Given the description of an element on the screen output the (x, y) to click on. 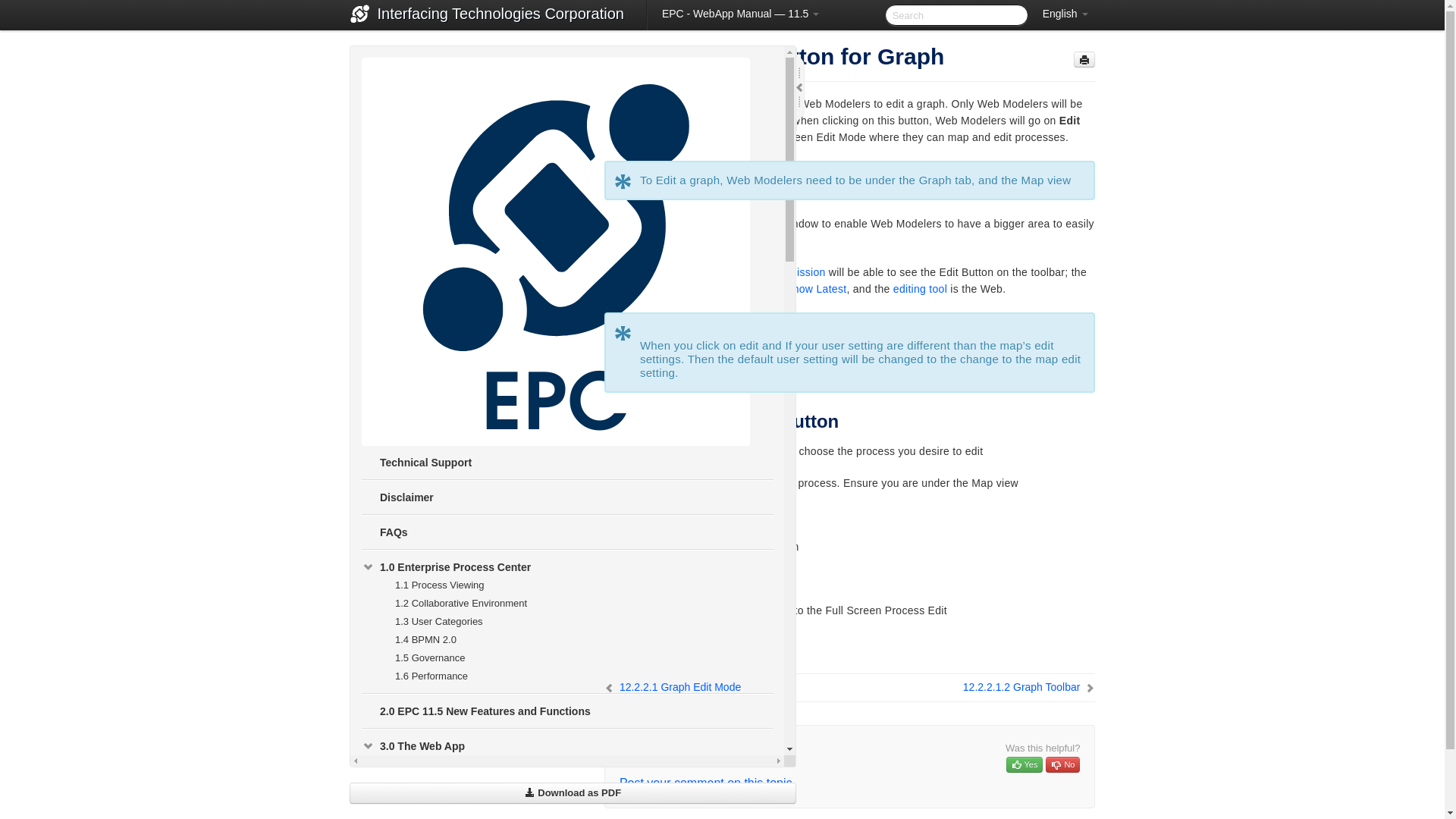
Interfacing Technologies Corporation (500, 15)
Print page (1084, 59)
English (1065, 14)
